Given the description of an element on the screen output the (x, y) to click on. 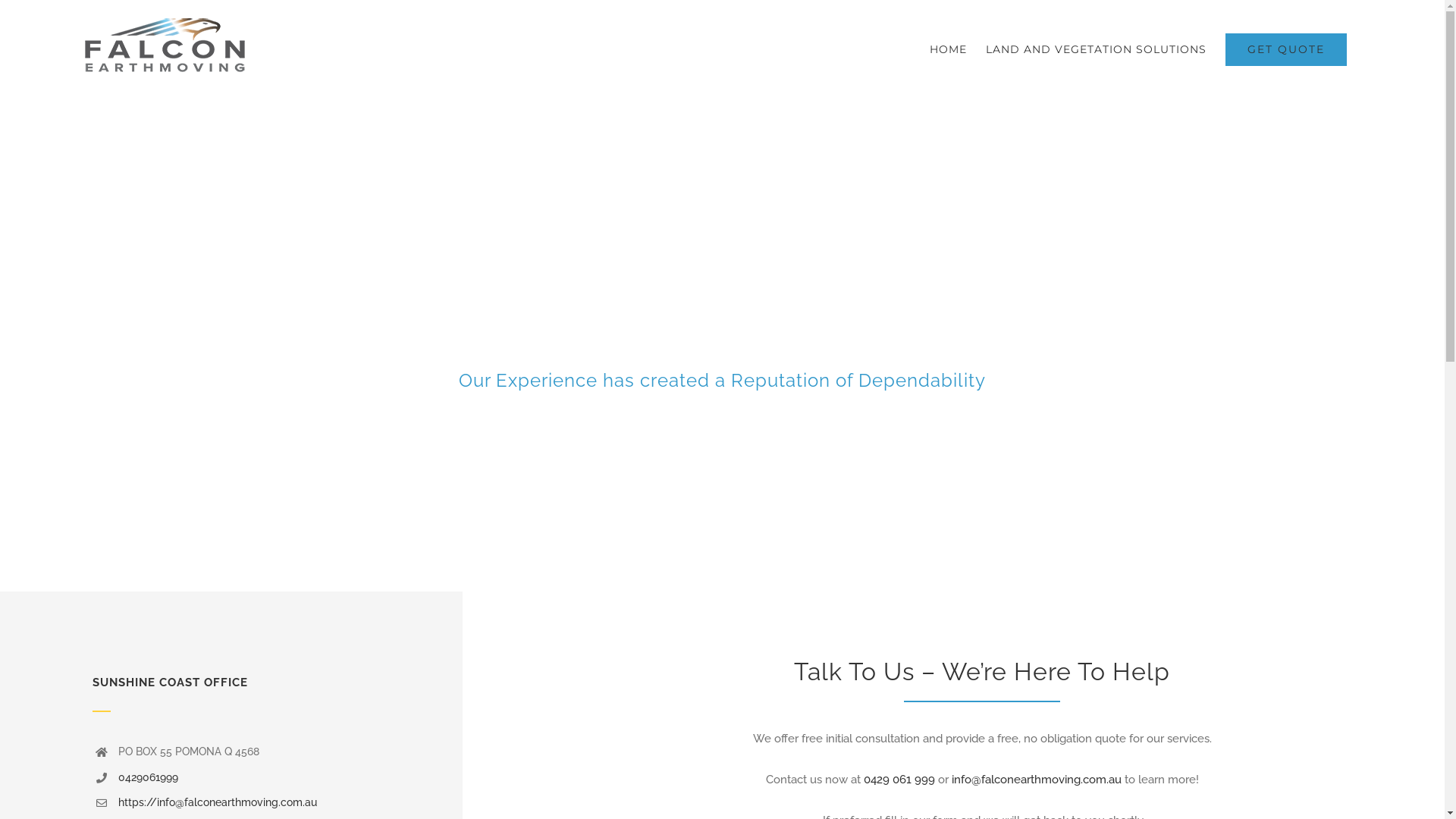
HOME Element type: text (947, 49)
info@falconearthmoving.com.au Element type: text (1036, 779)
0429061999 Element type: text (148, 777)
LAND AND VEGETATION SOLUTIONS Element type: text (1095, 49)
0429 061 999 Element type: text (899, 779)
https://info@falconearthmoving.com.au Element type: text (217, 802)
GET QUOTE Element type: text (1285, 49)
